Given the description of an element on the screen output the (x, y) to click on. 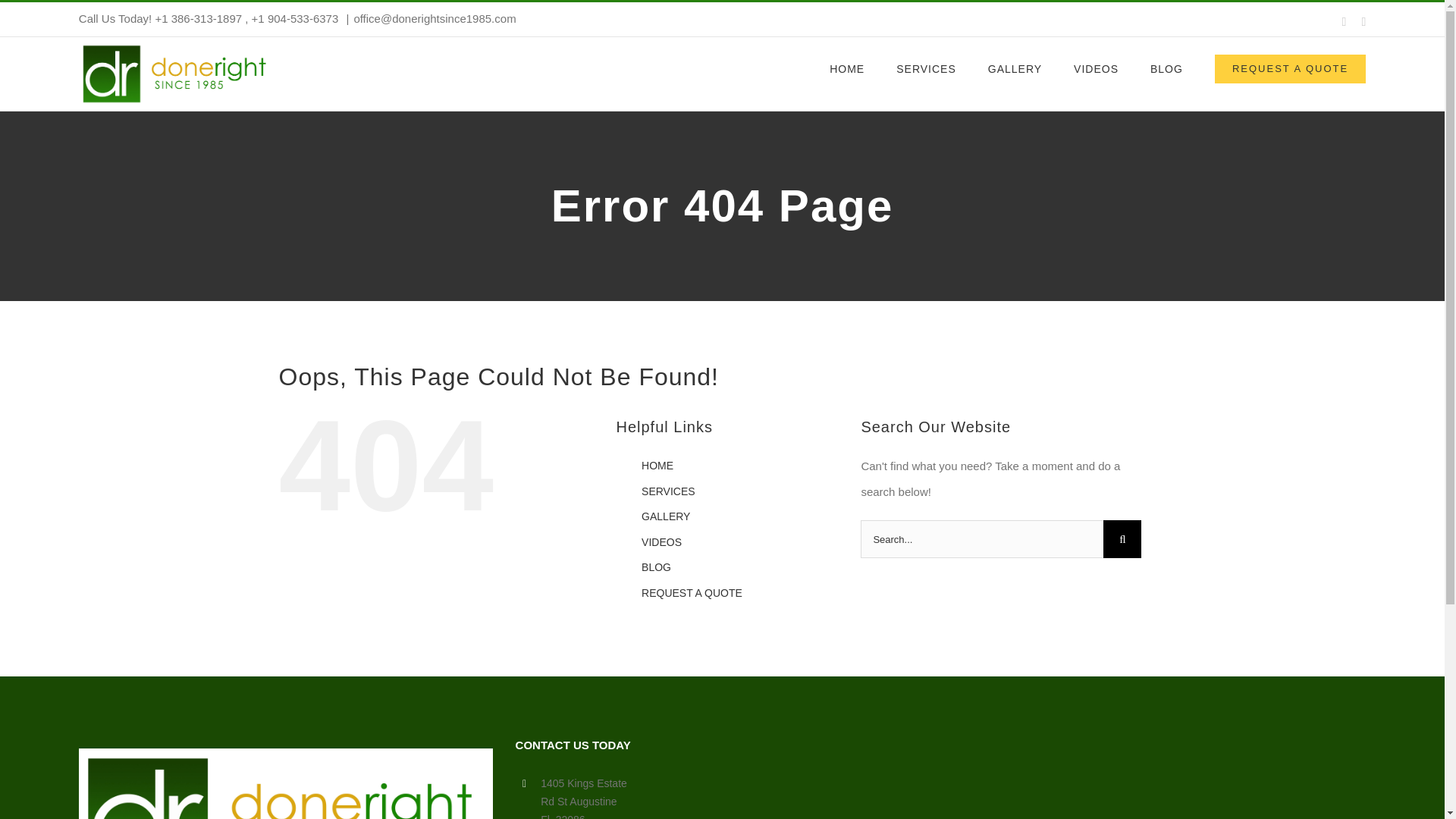
SERVICES (926, 68)
REQUEST A QUOTE (1289, 68)
GALLERY (666, 516)
VIDEOS (661, 541)
HOME (657, 465)
SERVICES (668, 491)
REQUEST A QUOTE (692, 592)
BLOG (656, 567)
